Given the description of an element on the screen output the (x, y) to click on. 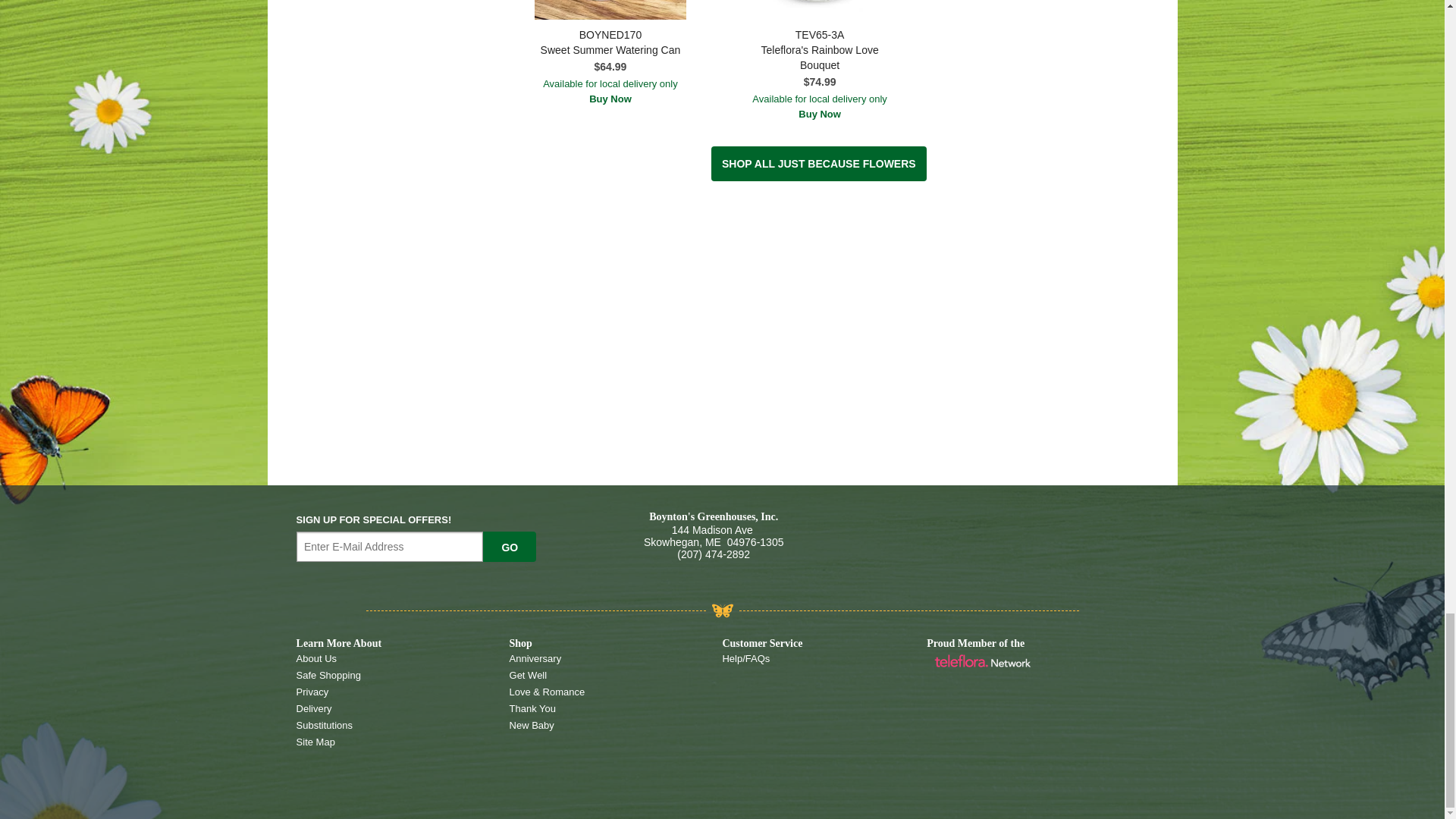
Email Sign up (390, 546)
Go (509, 546)
go (509, 546)
